Given the description of an element on the screen output the (x, y) to click on. 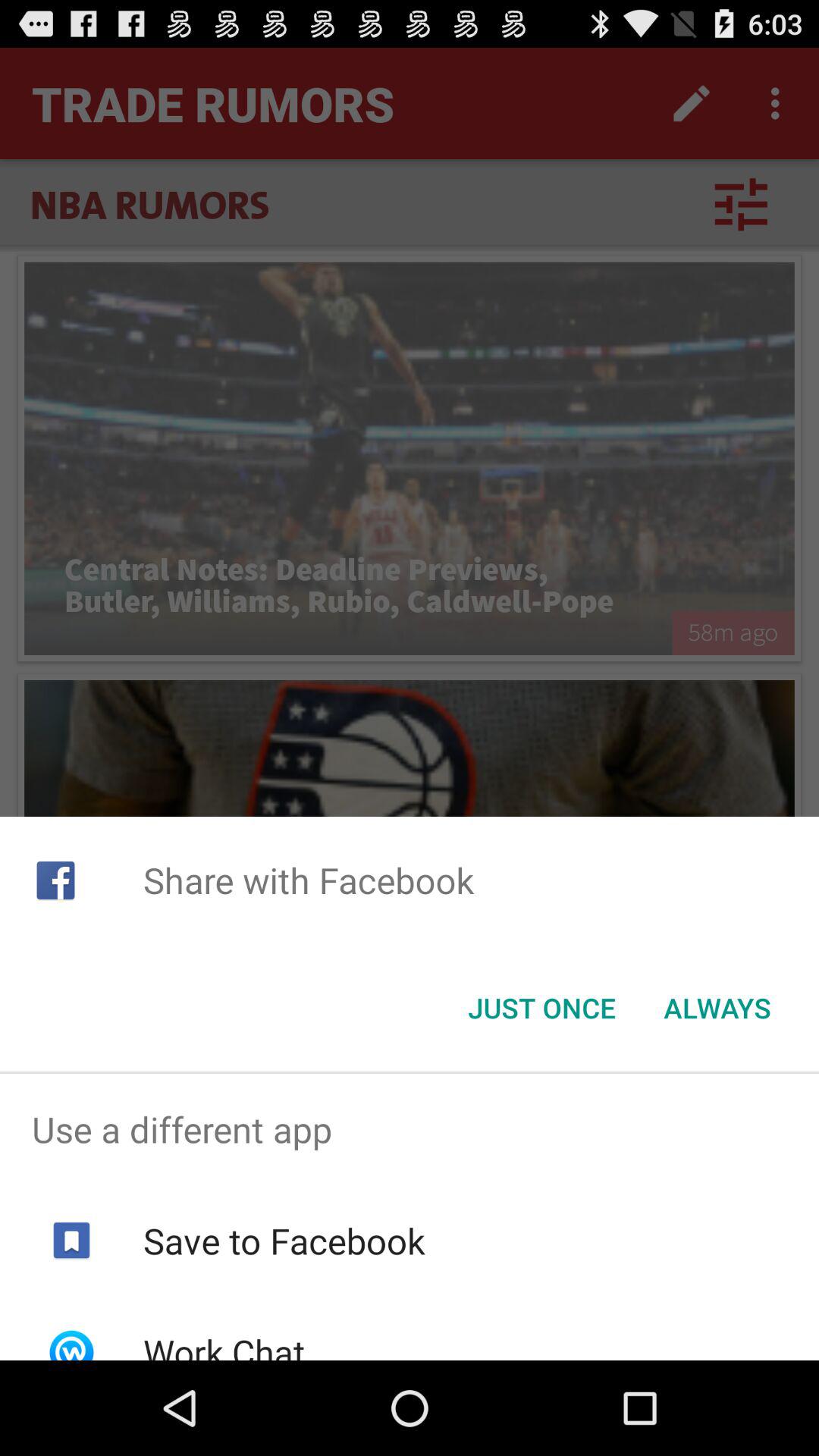
launch the icon below use a different app (284, 1240)
